Given the description of an element on the screen output the (x, y) to click on. 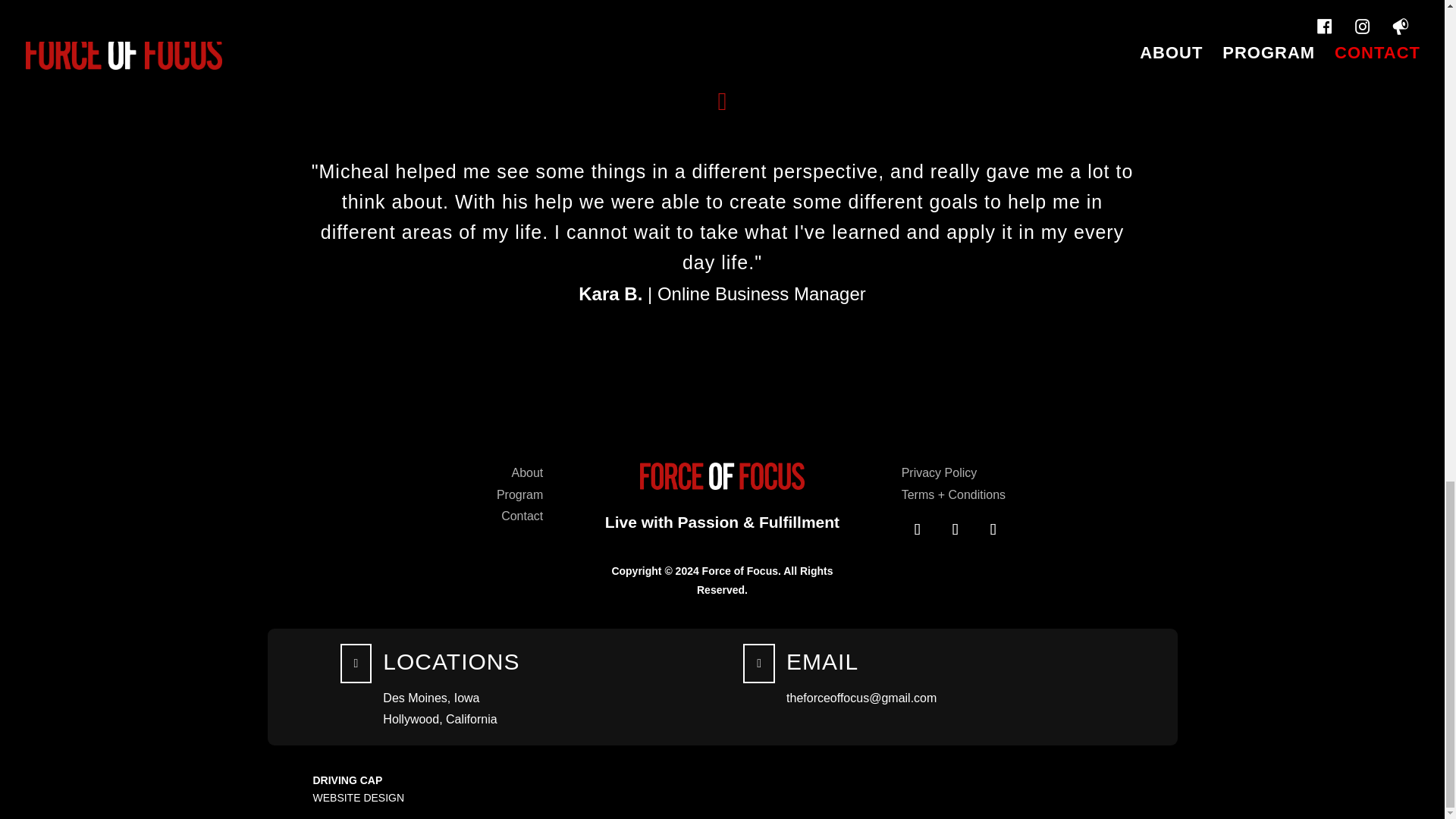
Follow on TikTok (992, 529)
DRIVING CAP (347, 779)
Privacy Policy (938, 472)
Follow on Instagram (955, 529)
About (527, 472)
Program (519, 494)
Contact (521, 515)
Follow on Facebook (917, 529)
